Given the description of an element on the screen output the (x, y) to click on. 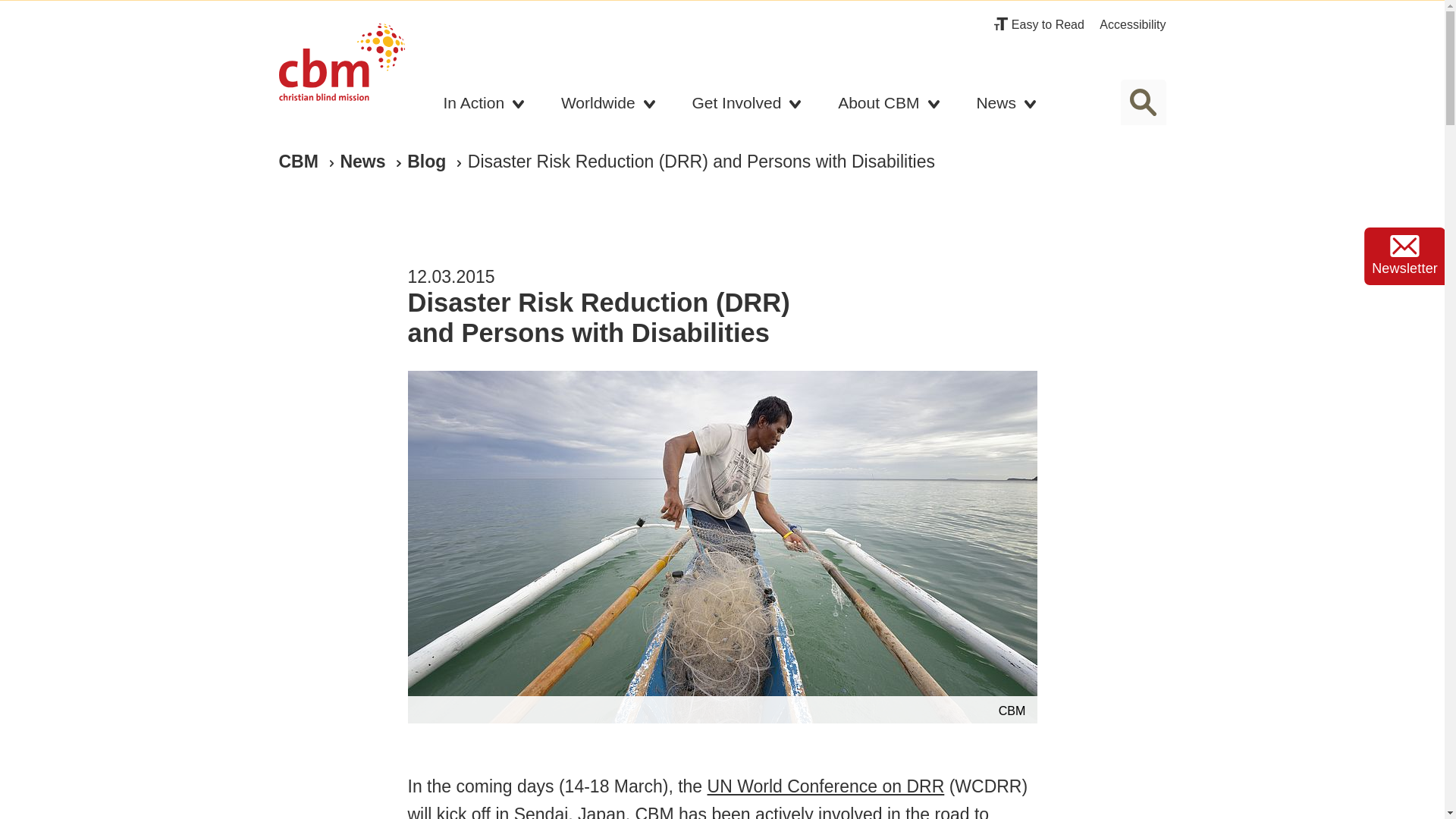
Accessibility (1132, 24)
Easy to Read (1038, 24)
About CBM (888, 106)
Display search (1143, 102)
Go Back to Homepage (341, 66)
Worldwide (607, 106)
News (1005, 106)
In Action (484, 106)
Get Involved (745, 106)
